Given the description of an element on the screen output the (x, y) to click on. 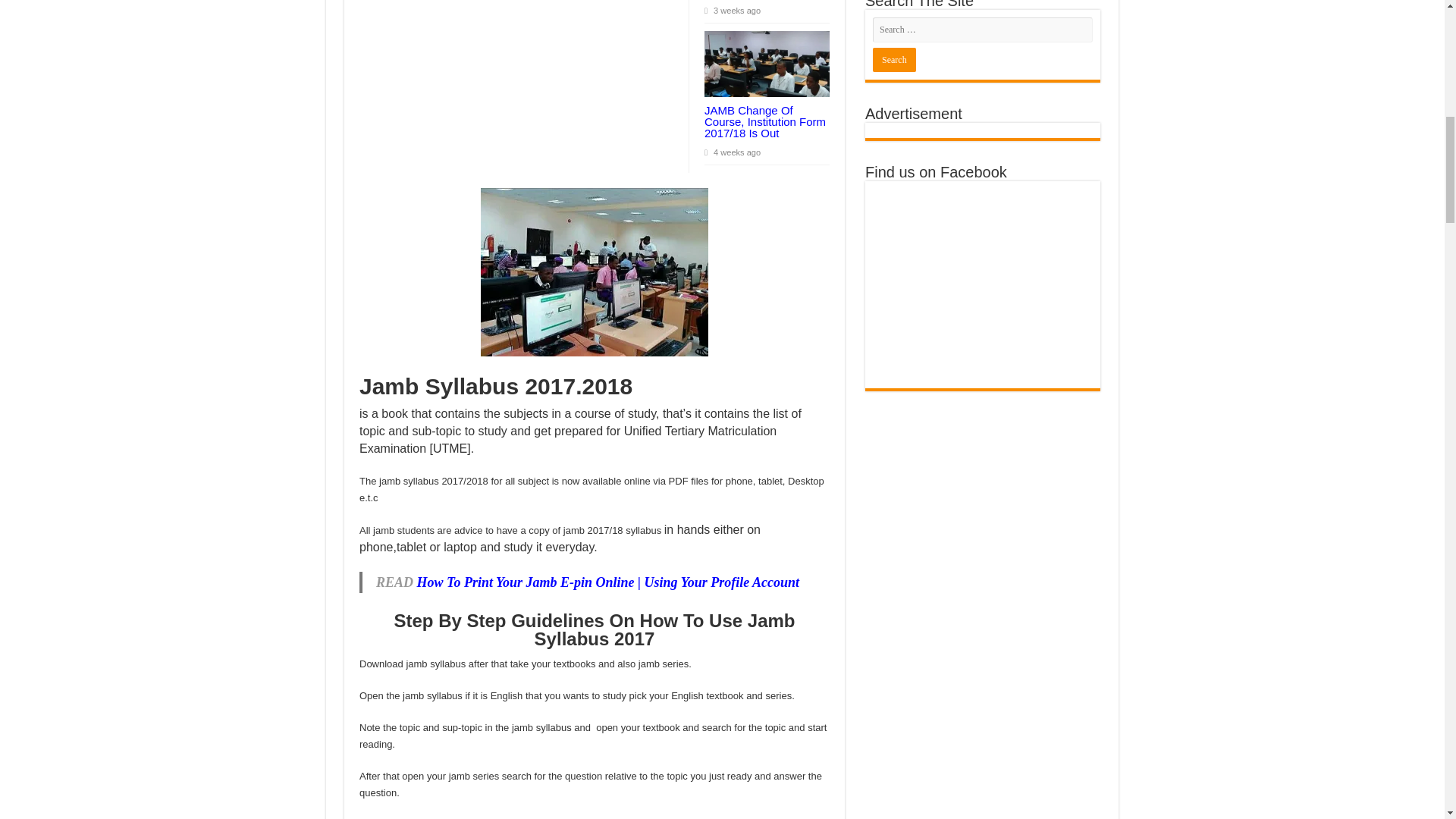
Search (893, 59)
Search (893, 59)
